Given the description of an element on the screen output the (x, y) to click on. 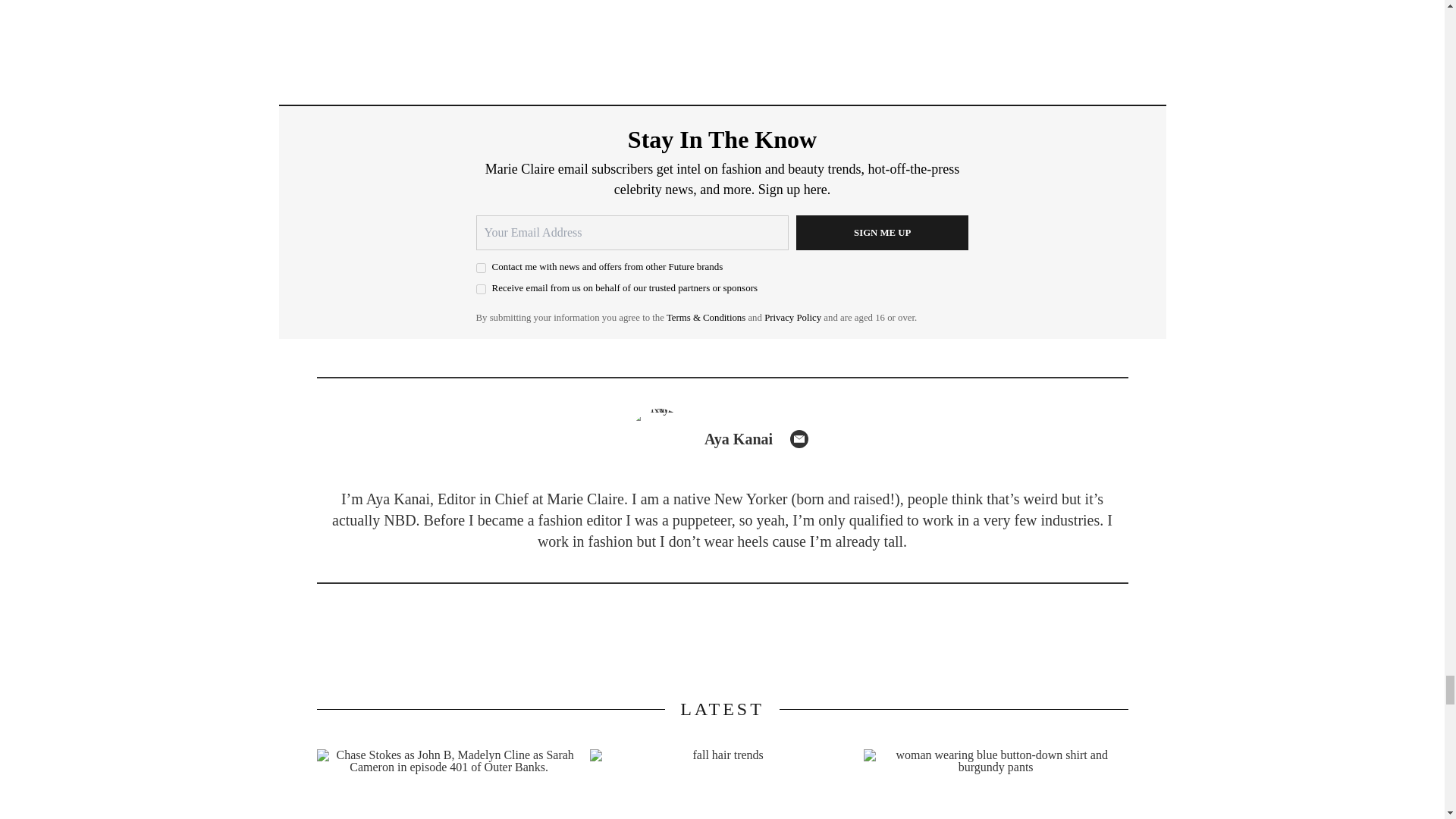
on (481, 289)
on (481, 267)
Sign me up (882, 232)
